Given the description of an element on the screen output the (x, y) to click on. 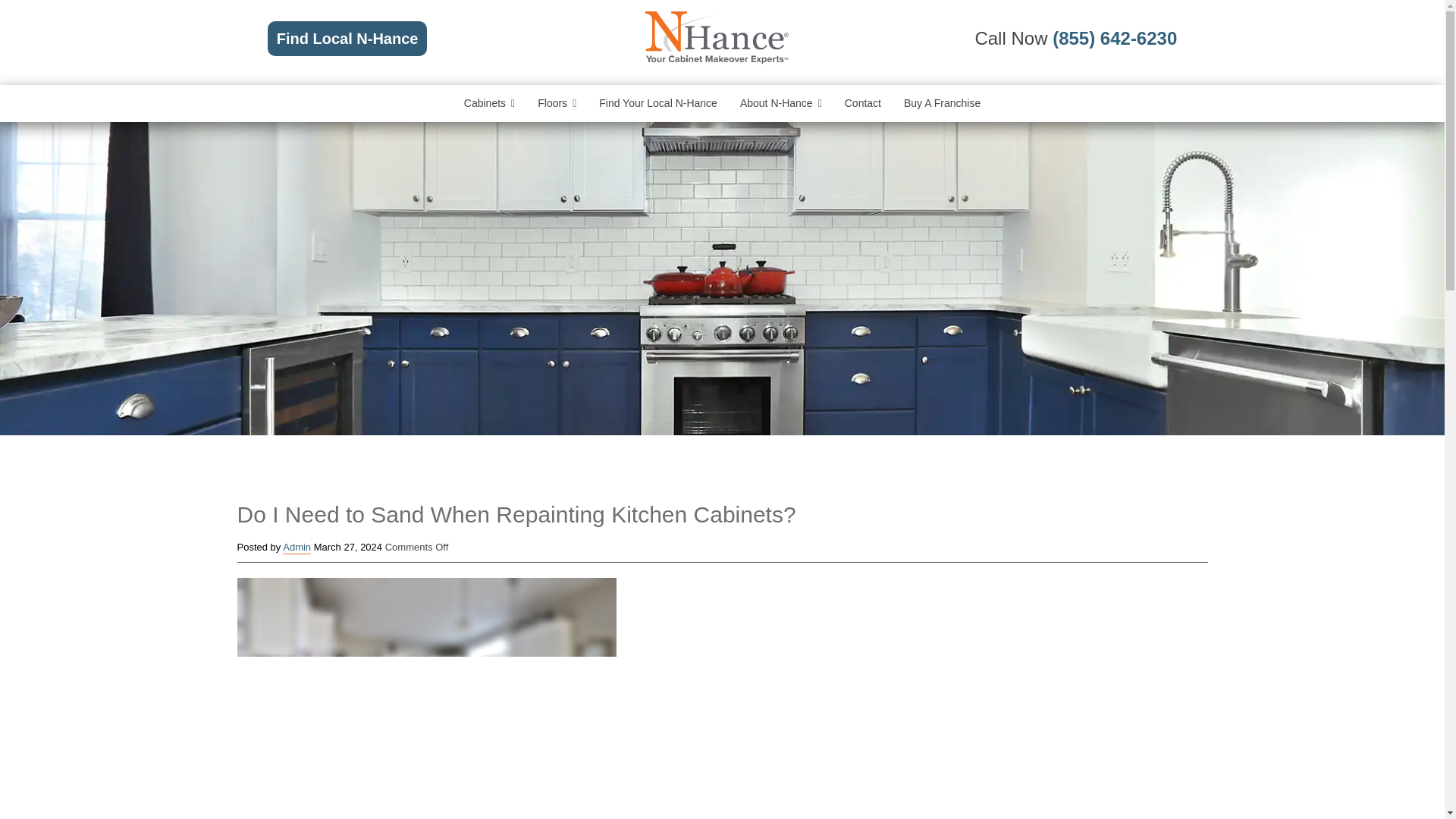
N-Hance Wood Refinishing Home Page (716, 60)
About N-Hance Refinishing (780, 103)
Find A Local N-Hance Refinisher (347, 38)
Find a local  N-Hance Near you (658, 102)
Contact (862, 102)
Admin (296, 547)
Cabinets (489, 103)
Find Local N-Hance (347, 38)
Floor Refinishing (556, 103)
Buy A Franchise (942, 102)
